Given the description of an element on the screen output the (x, y) to click on. 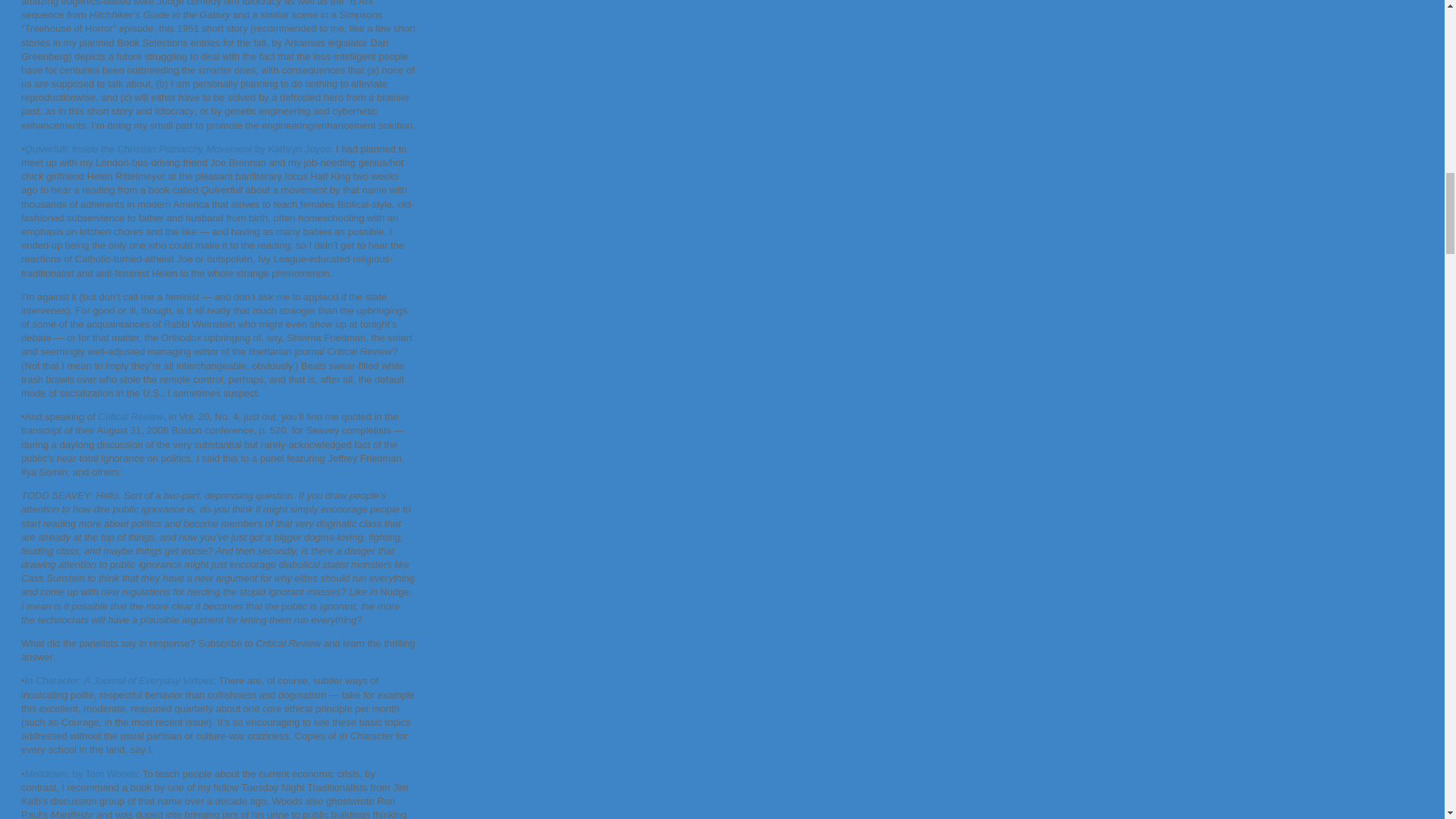
Critical Review (130, 416)
Meltdown: by Tom Woods (80, 772)
In Character: A Journal of Everyday Virtues (119, 680)
